Given the description of an element on the screen output the (x, y) to click on. 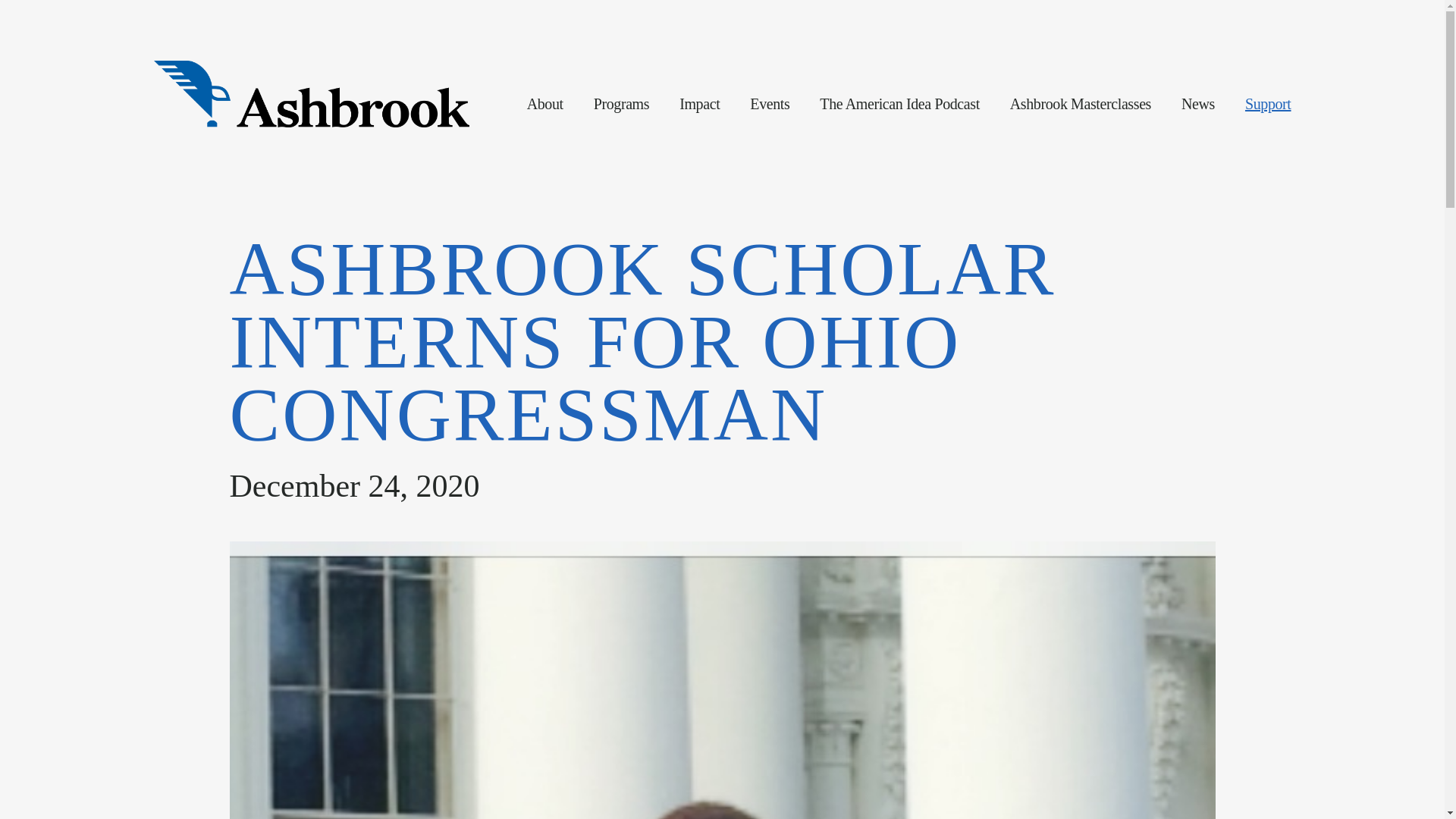
Programs (621, 103)
The American Idea Podcast (898, 103)
Ashbrook Center (310, 93)
About (545, 103)
Ashbrook Masterclasses (1080, 103)
News (1197, 103)
Events (769, 103)
Support (1267, 103)
Impact (699, 103)
